Given the description of an element on the screen output the (x, y) to click on. 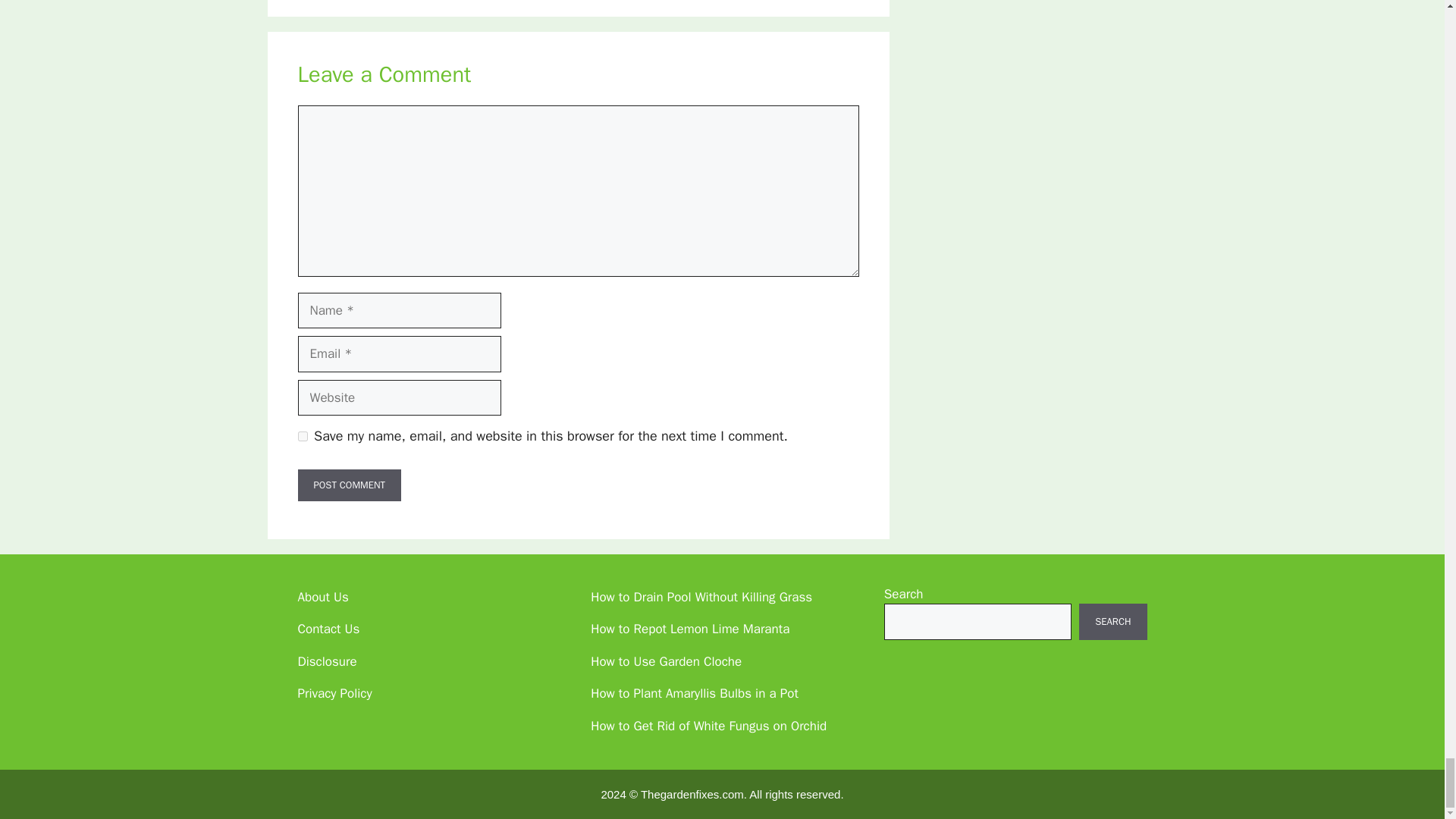
How to Get Rid of White Fungus on Orchid (709, 725)
Post Comment (349, 485)
Disclosure (326, 661)
Contact Us (328, 628)
How to Use Garden Cloche (666, 661)
How to Repot Lemon Lime Maranta (690, 628)
How to Plant Amaryllis Bulbs in a Pot (694, 693)
How to Drain Pool Without Killing Grass (701, 596)
About Us (322, 596)
Privacy Policy (334, 693)
